Given the description of an element on the screen output the (x, y) to click on. 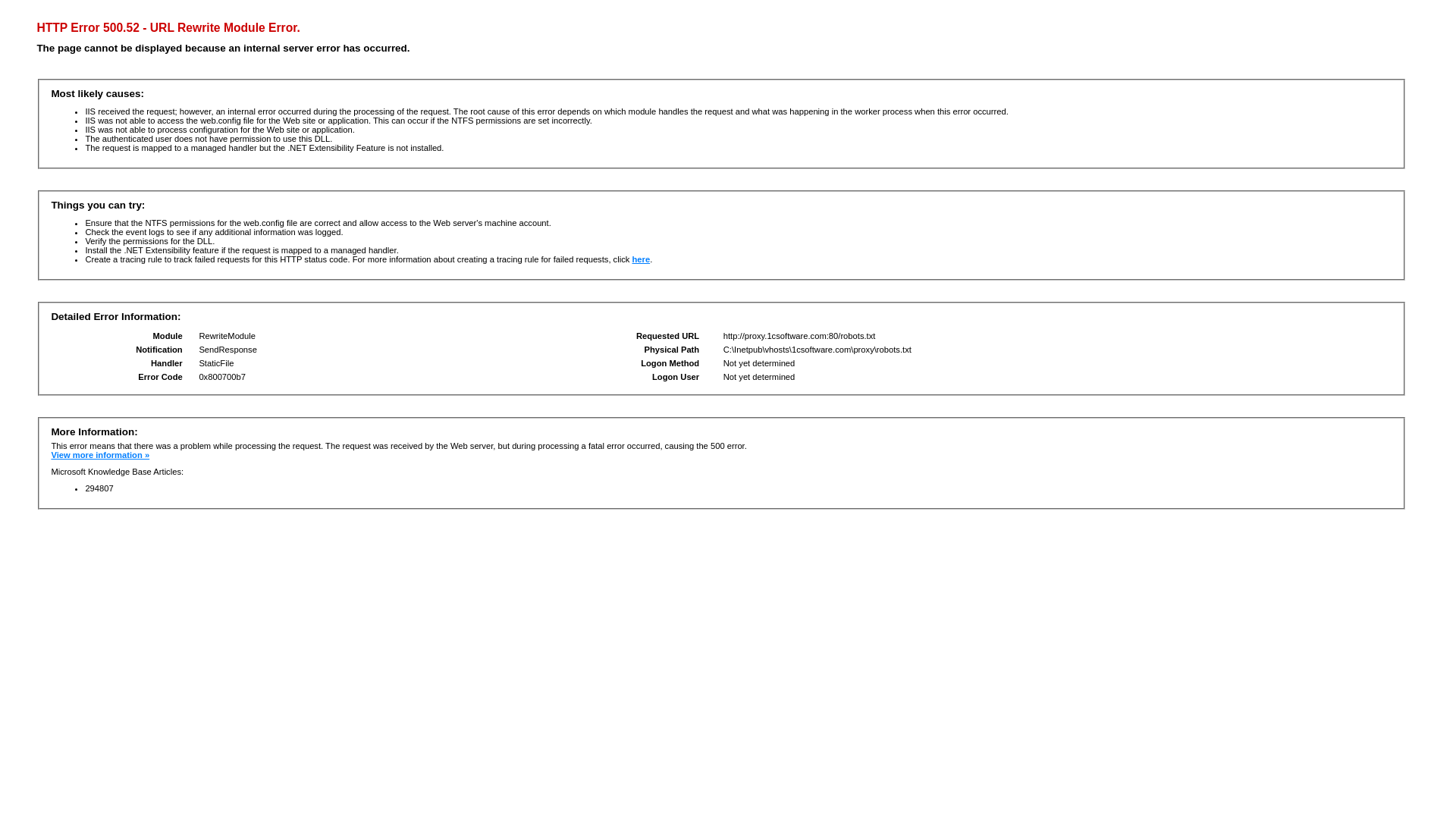
here Element type: text (640, 258)
